Given the description of an element on the screen output the (x, y) to click on. 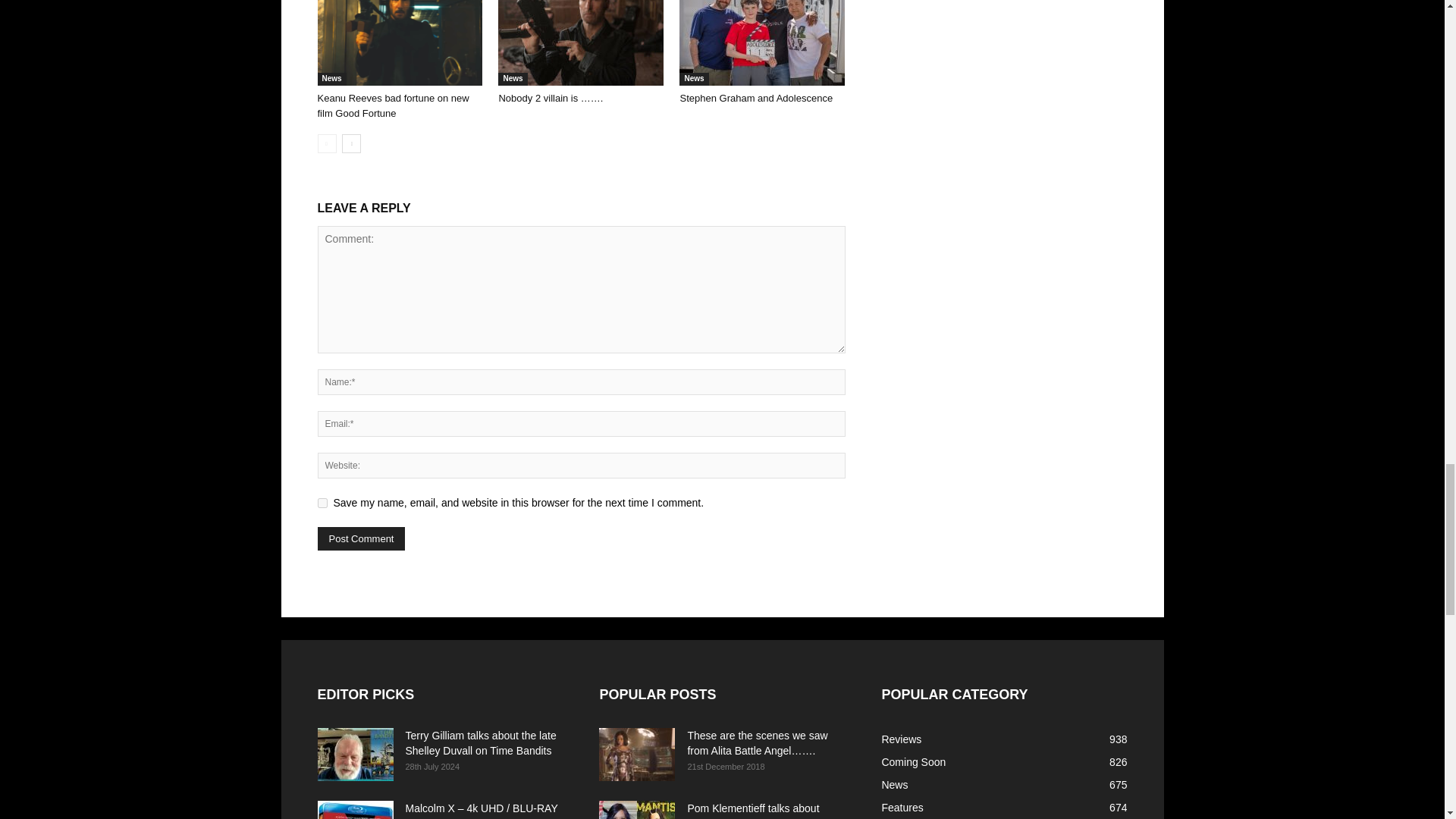
yes (321, 502)
Post Comment (360, 538)
